Given the description of an element on the screen output the (x, y) to click on. 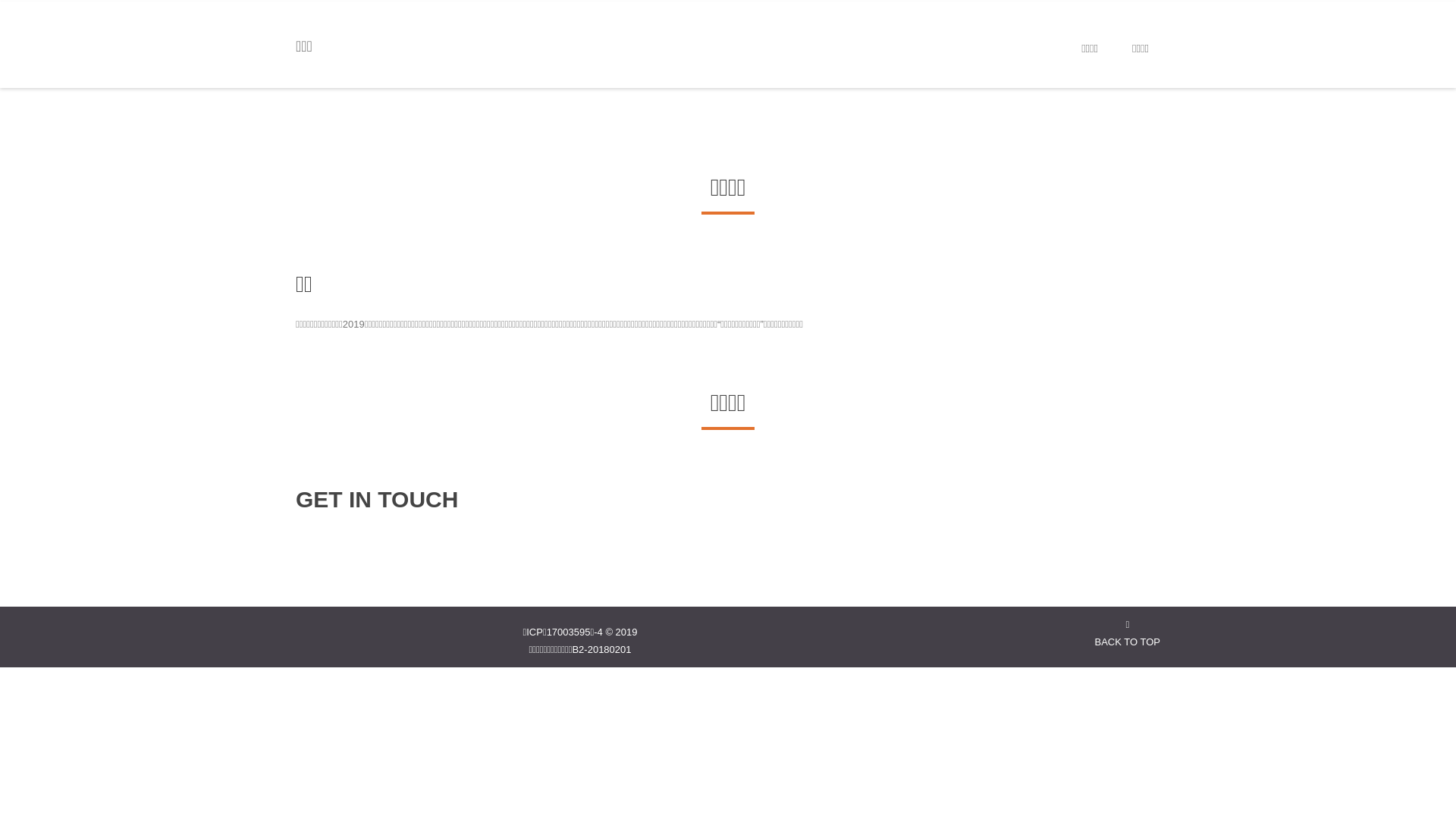
BACK TO TOP Element type: text (1127, 632)
